Given the description of an element on the screen output the (x, y) to click on. 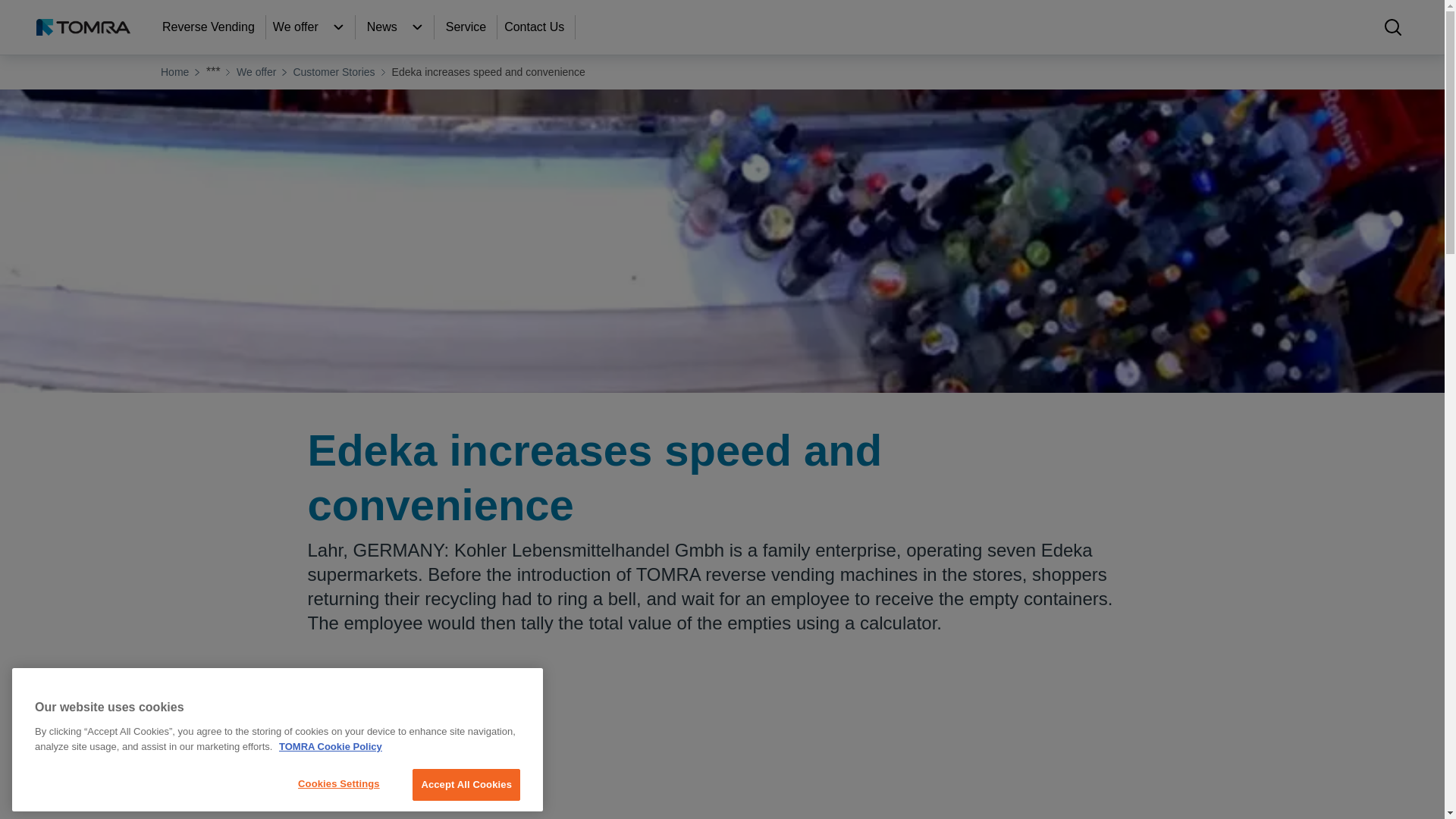
News (417, 27)
We offer (338, 27)
video23 (722, 754)
We offer (296, 27)
News (384, 27)
Tomra.com homepage (83, 27)
Reverse Vending (210, 27)
Service (468, 27)
Search (1392, 27)
Contact Us (535, 27)
